Given the description of an element on the screen output the (x, y) to click on. 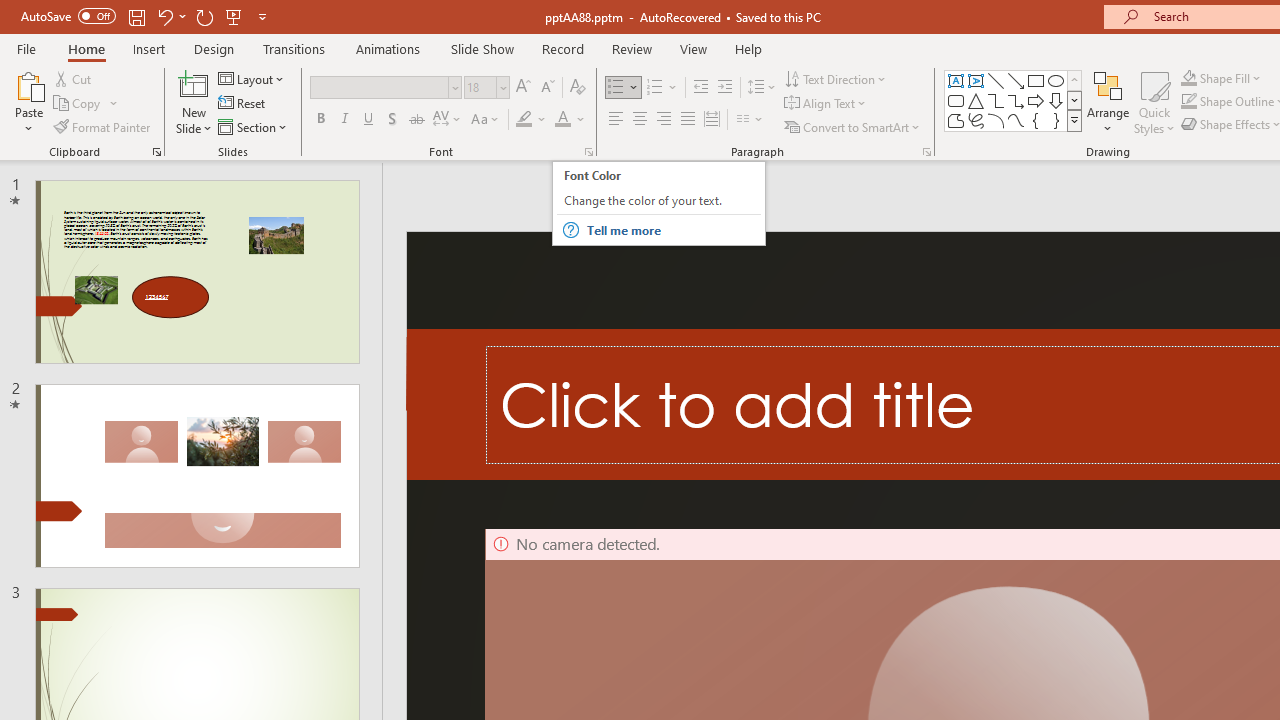
Shape Outline Teal, Accent 1 (1188, 101)
